Given the description of an element on the screen output the (x, y) to click on. 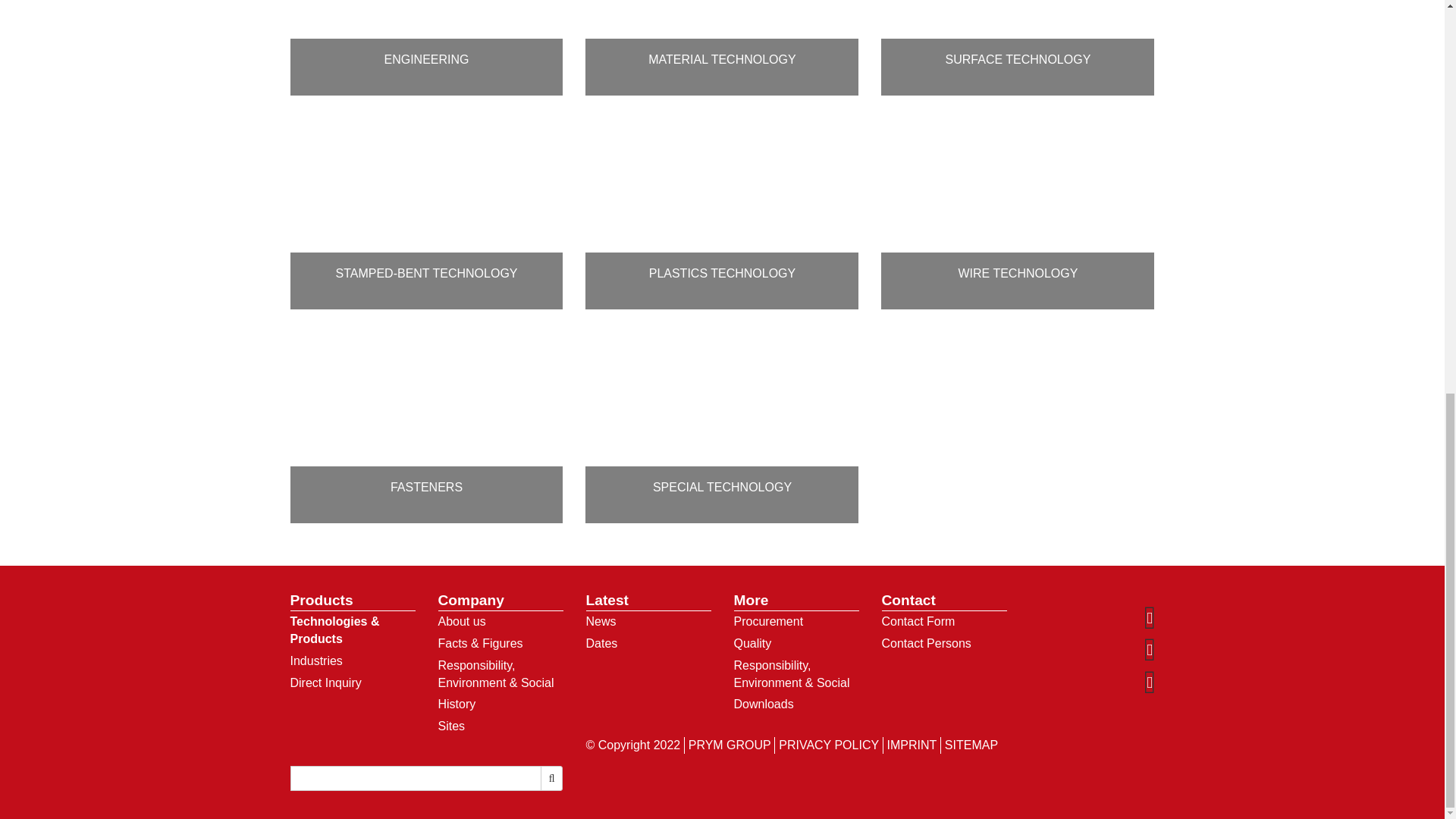
MATERIAL TECHNOLOGY (722, 47)
SURFACE TECHNOLOGY (1017, 47)
ENGINEERING (425, 47)
